Given the description of an element on the screen output the (x, y) to click on. 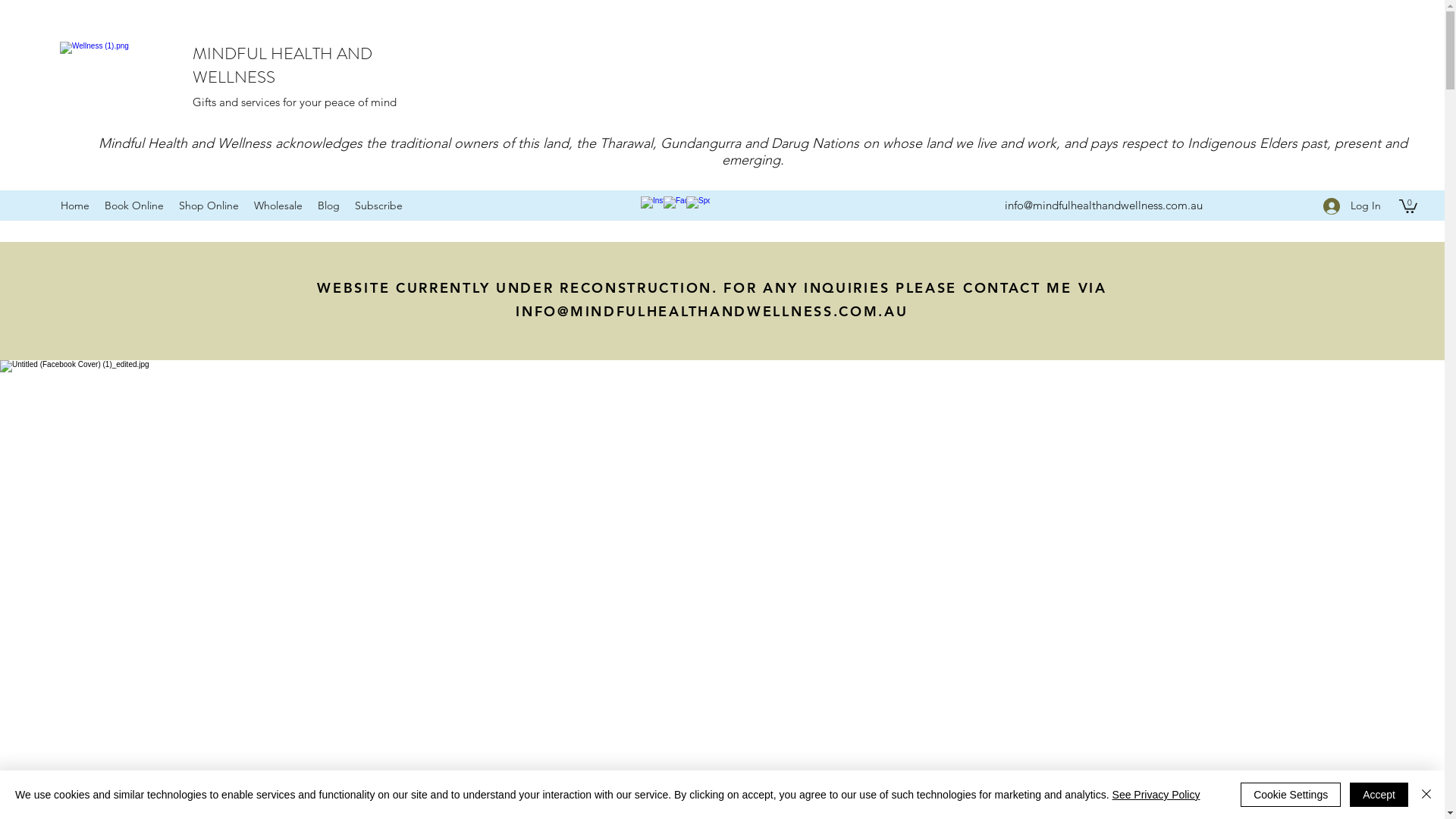
Accept Element type: text (1378, 794)
Shop Online Element type: text (208, 205)
INFO@MINDFULHEALTHANDWELLNESS.COM.AU Element type: text (711, 311)
info@mindfulhealthandwellness.com.au Element type: text (1103, 204)
Log In Element type: text (1351, 205)
Home Element type: text (75, 205)
See Privacy Policy Element type: text (1156, 794)
Subscribe Element type: text (378, 205)
MINDFUL HEALTH AND WELLNESS Element type: text (282, 64)
Wholesale Element type: text (278, 205)
Blog Element type: text (328, 205)
Cookie Settings Element type: text (1290, 794)
Book Online Element type: text (134, 205)
0 Element type: text (1408, 205)
